Given the description of an element on the screen output the (x, y) to click on. 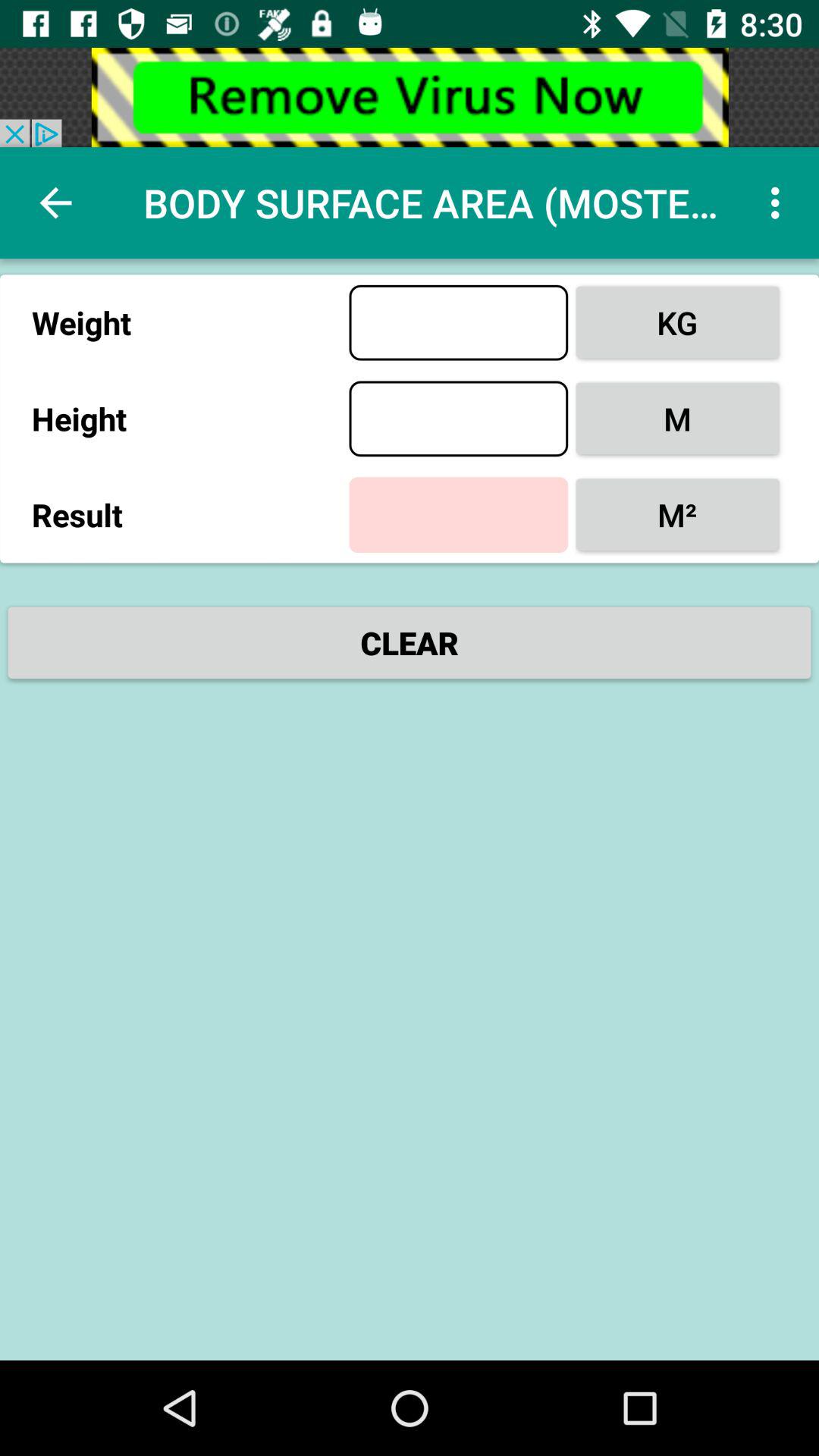
weight enter option (458, 322)
